Given the description of an element on the screen output the (x, y) to click on. 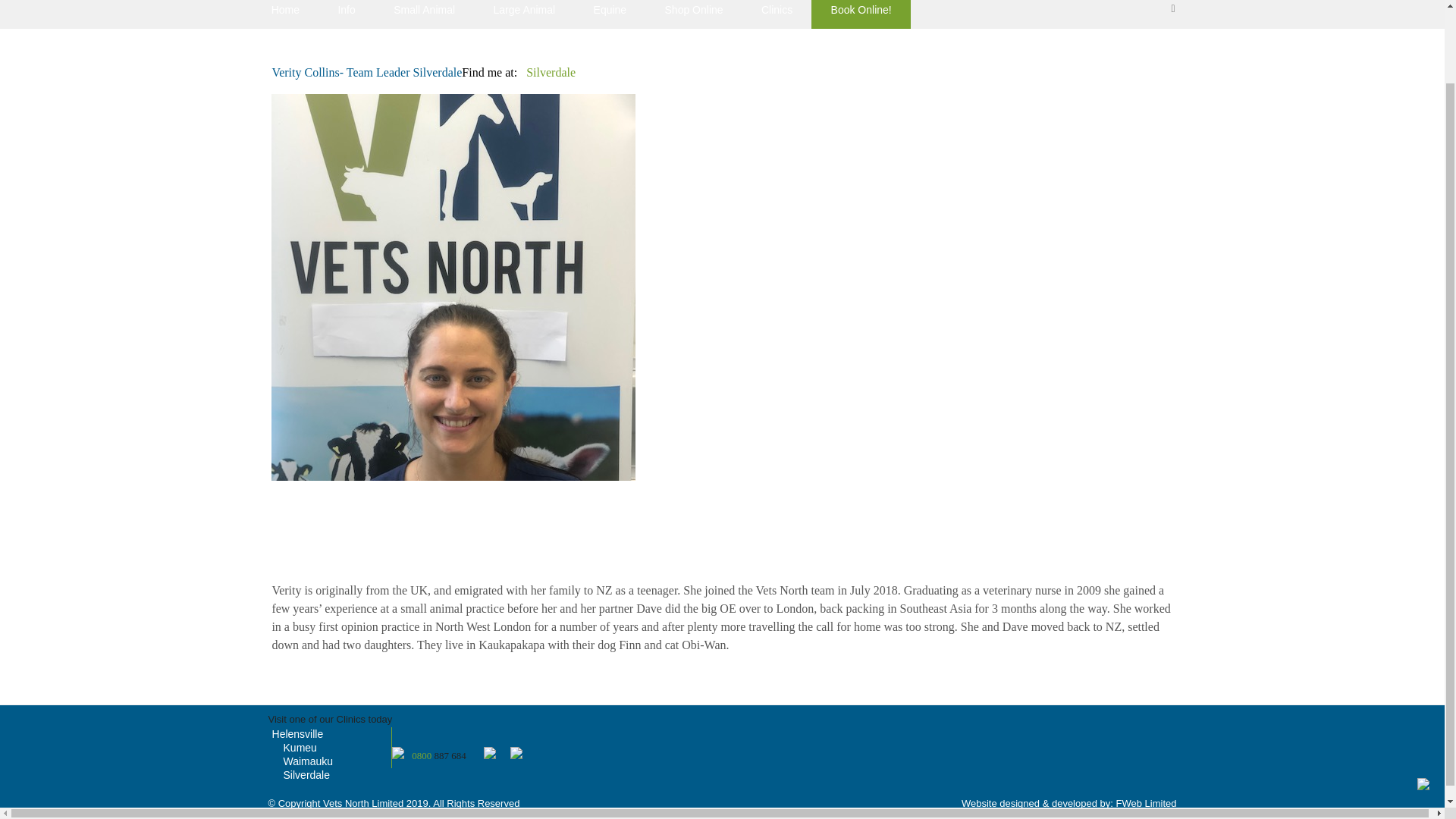
Equine (609, 14)
Clinics (777, 14)
Waimauku (308, 761)
Home (284, 14)
Large Animal (523, 14)
Shop Online (693, 14)
Helensville (297, 734)
Info (346, 14)
Book Online! (860, 14)
View your shopping cart (1171, 14)
Small Animal (424, 14)
Kumeu (300, 747)
